Given the description of an element on the screen output the (x, y) to click on. 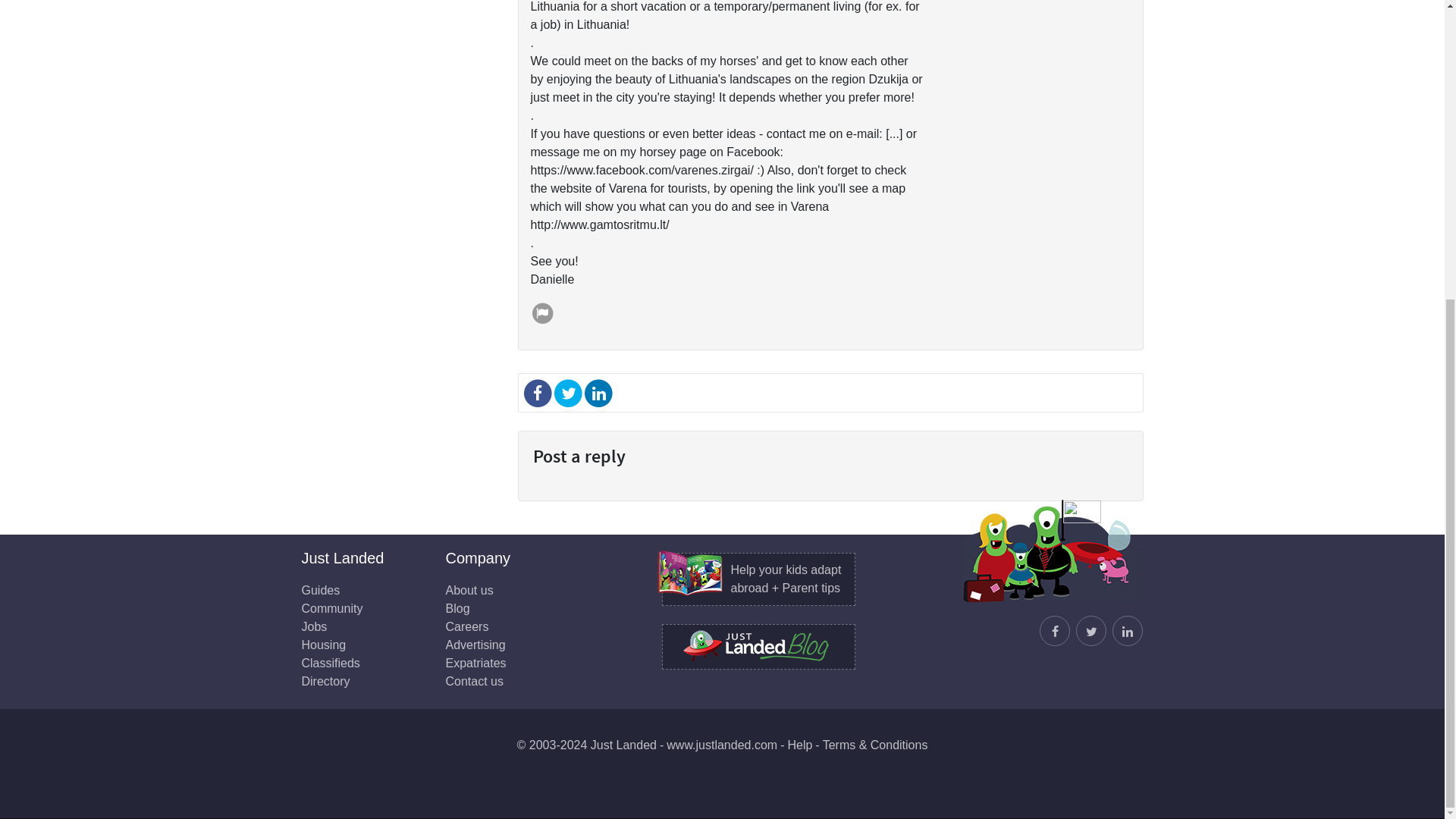
Share on Facebook (537, 391)
Share on LinkedIn (598, 391)
Share on twitter (568, 391)
